Given the description of an element on the screen output the (x, y) to click on. 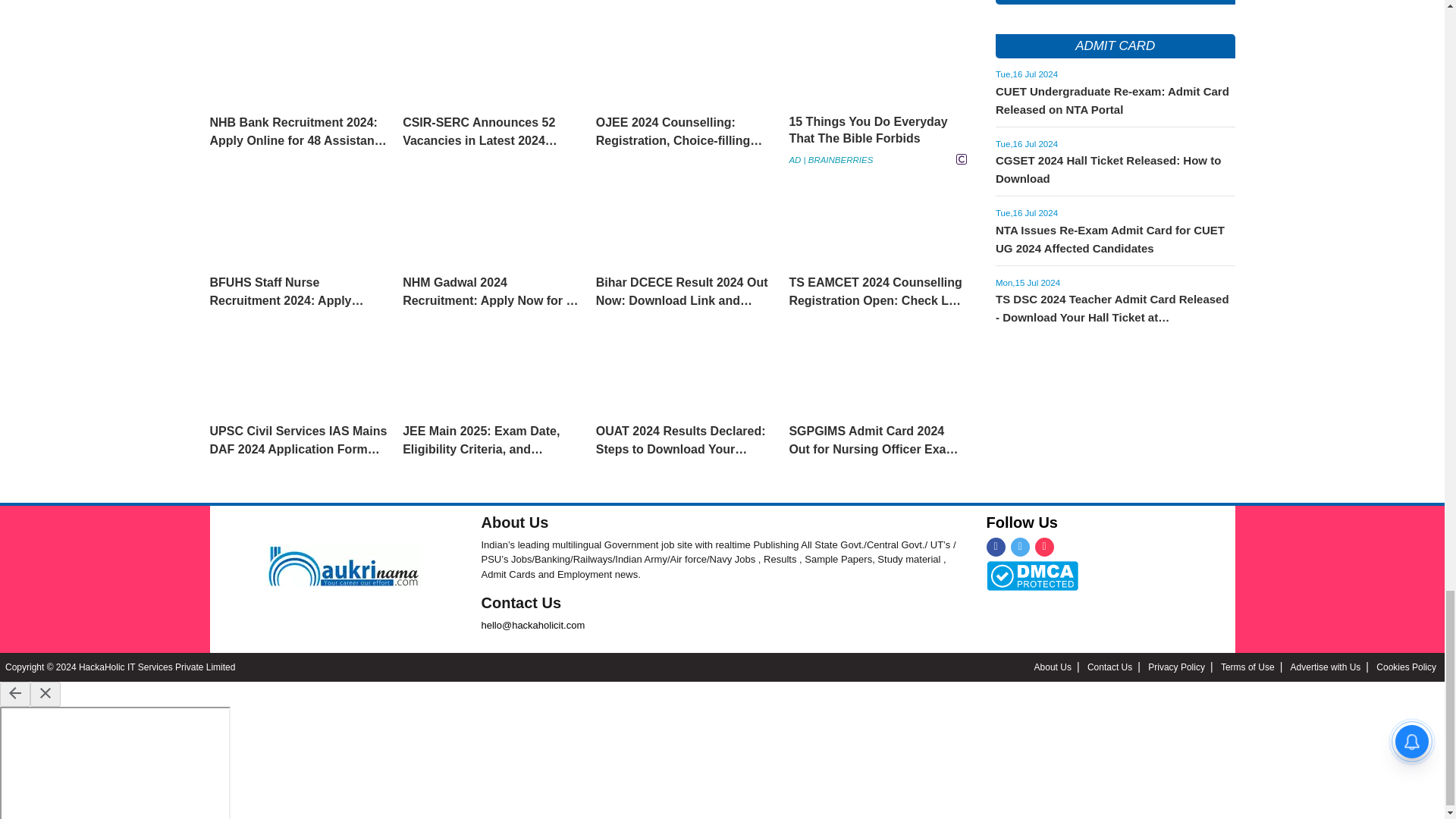
DMCA.com Protection Status (1031, 574)
Facebook (994, 546)
Instagram (1042, 546)
Twitter (1019, 546)
